Given the description of an element on the screen output the (x, y) to click on. 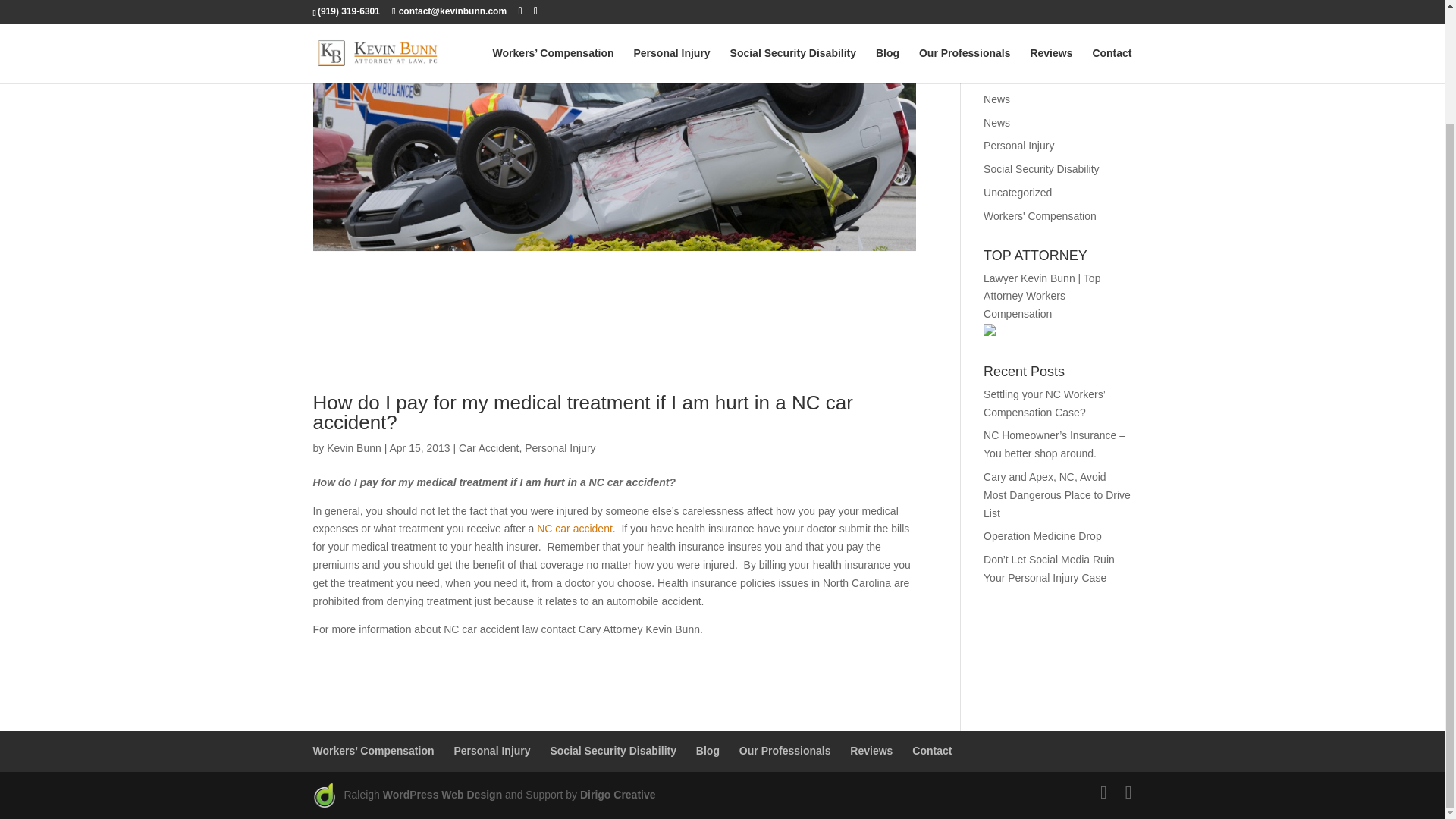
Operation Medicine Drop (1043, 535)
NC Car Accident Law (574, 528)
Lawyer Kevin Bunn (1029, 277)
Raleigh WordPress Web Design and Support (442, 794)
Search (1106, 11)
Kevin Bunn (353, 448)
Social Security Disability (613, 750)
Social Security Disability (1041, 168)
News (997, 99)
